Given the description of an element on the screen output the (x, y) to click on. 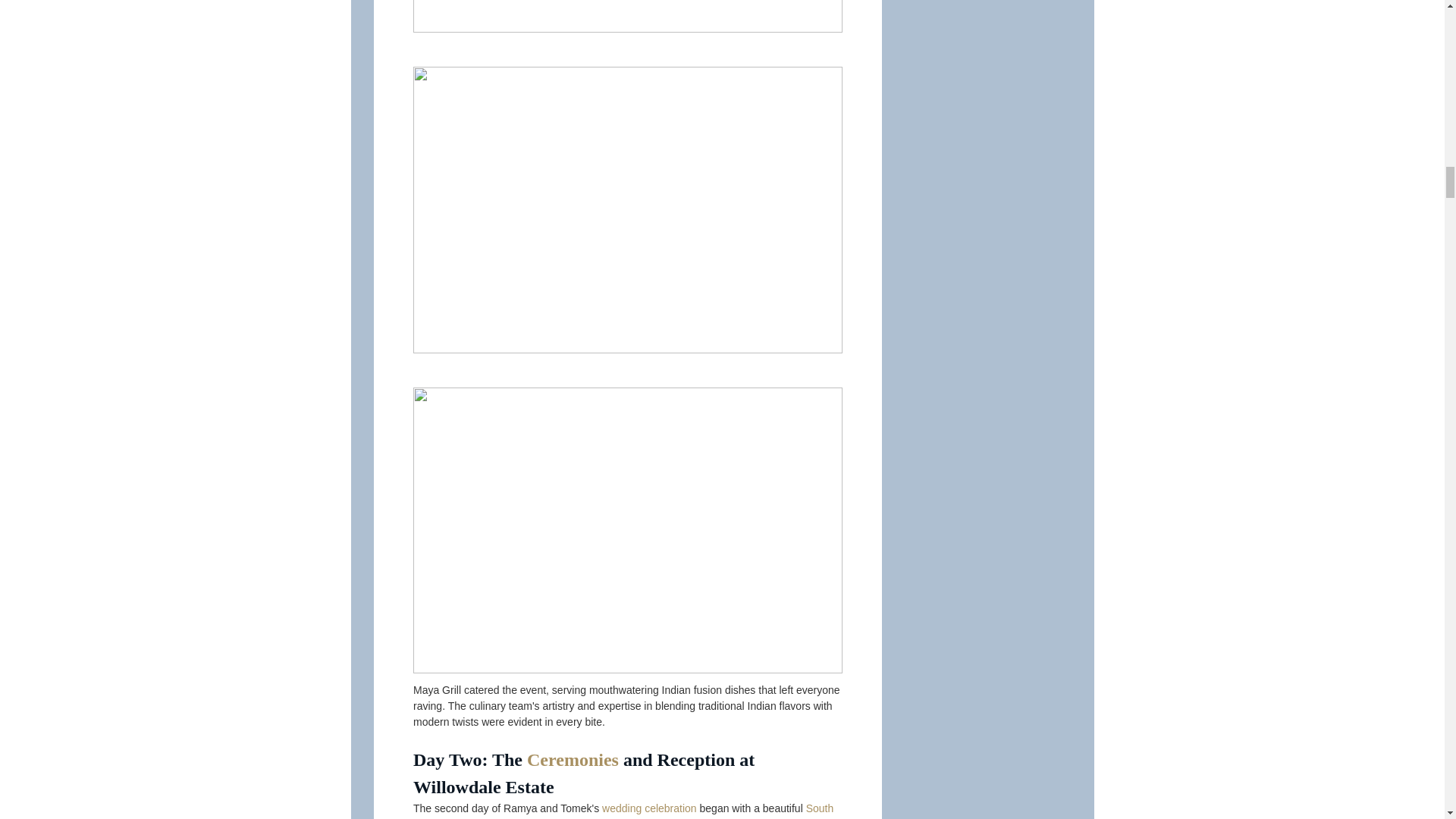
Ceremonies (572, 759)
South Indian ceremony (623, 810)
wedding celebration (649, 808)
